Given the description of an element on the screen output the (x, y) to click on. 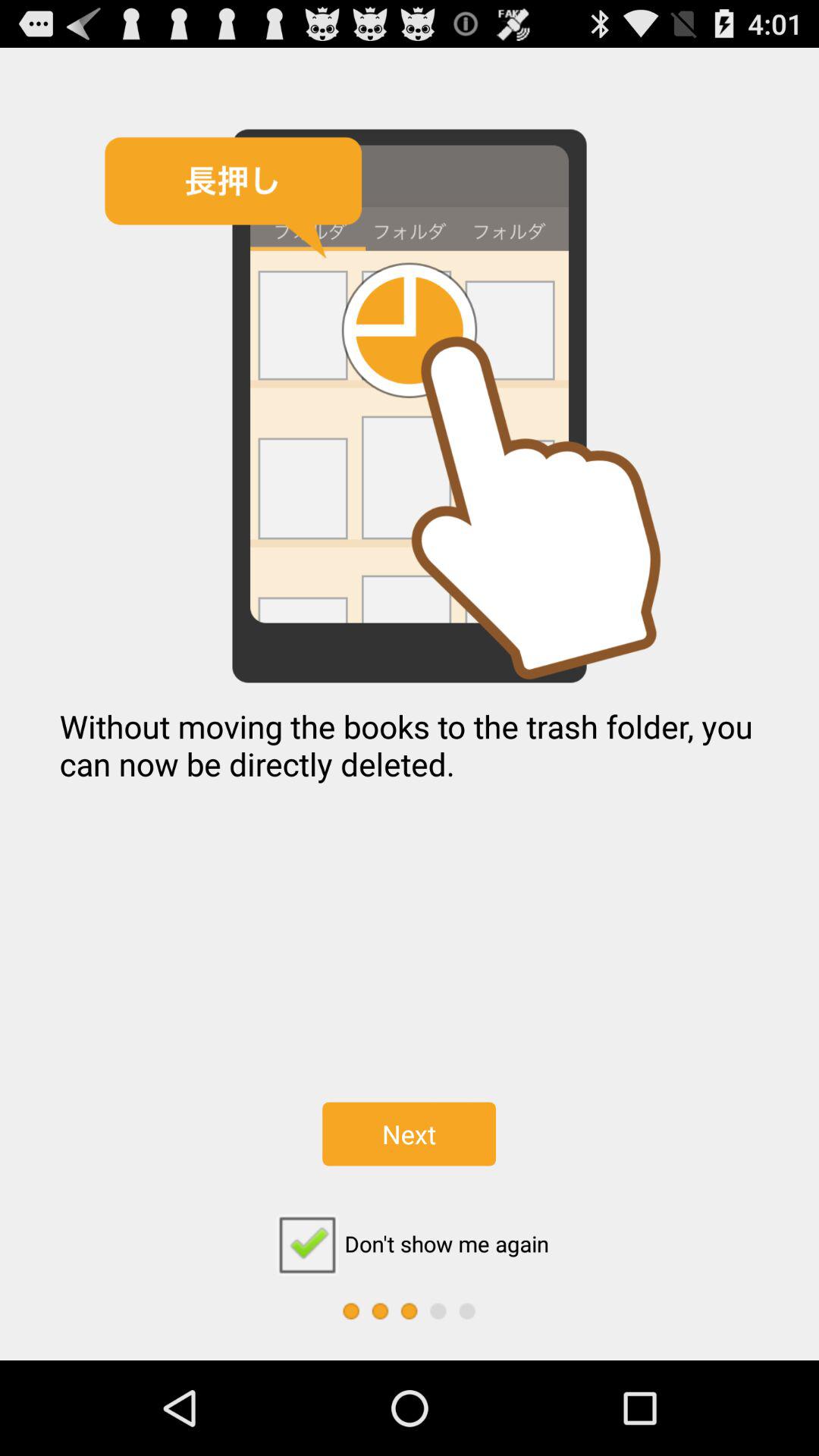
choose the icon below the without moving the icon (408, 1133)
